Given the description of an element on the screen output the (x, y) to click on. 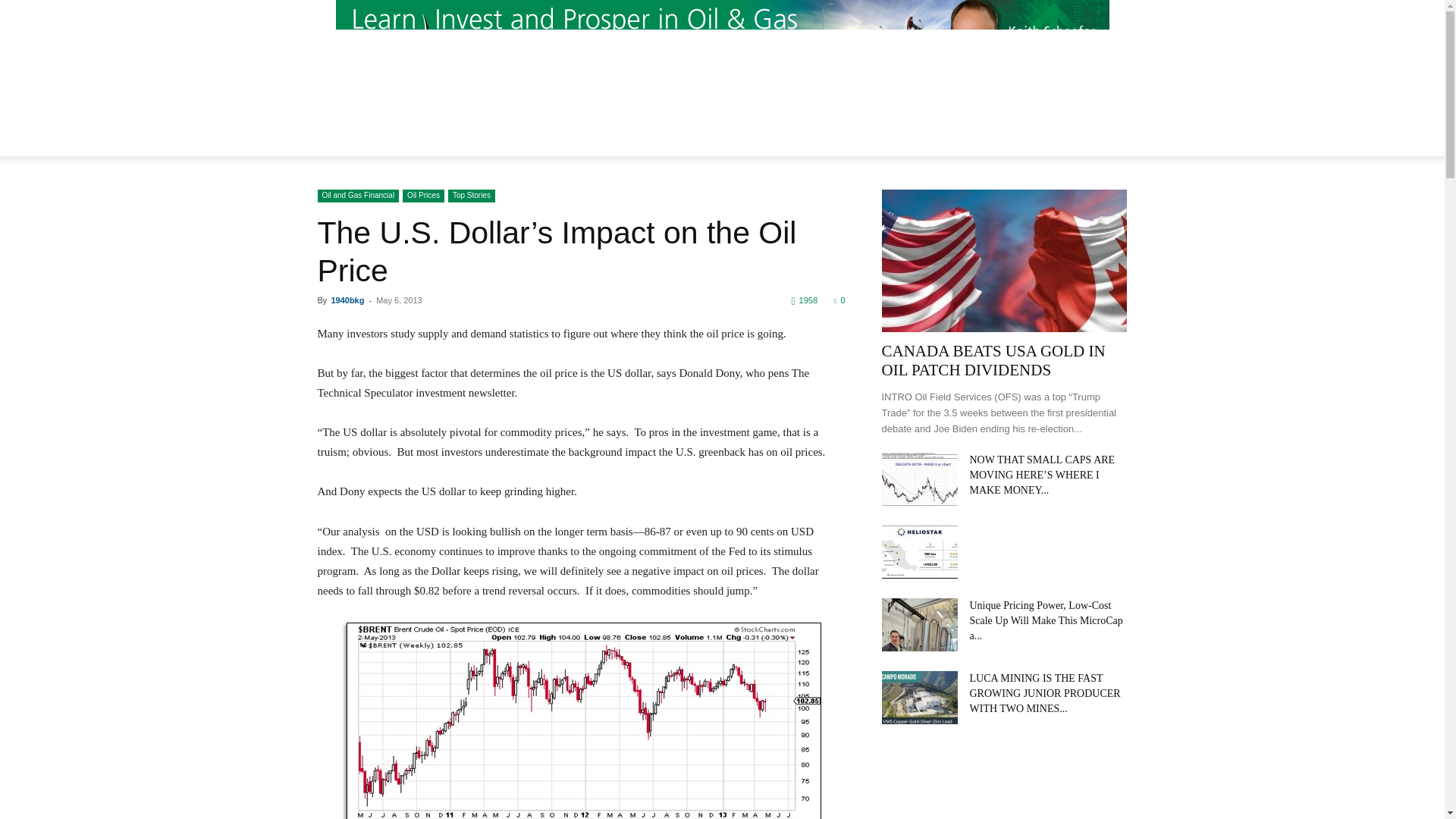
home (542, 142)
Top Stories (471, 195)
Oil and Gas Financial (357, 195)
contact us (655, 142)
0 (839, 299)
1940bkg (347, 299)
subscribe (891, 142)
about (592, 142)
archives (824, 142)
member centre (742, 142)
Search (1085, 198)
Oil Prices (423, 195)
